Given the description of an element on the screen output the (x, y) to click on. 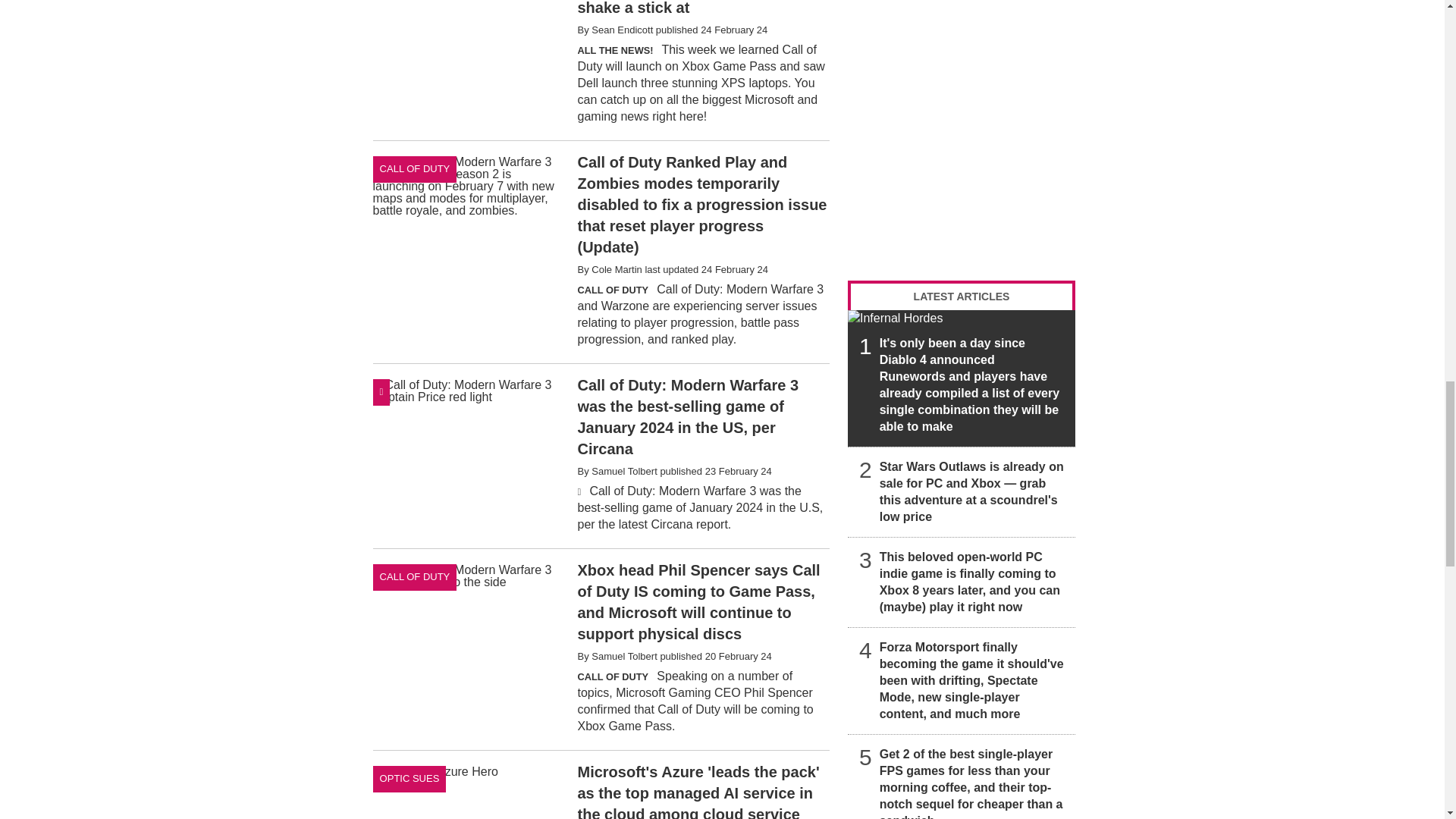
CALL OF DUTY (414, 577)
CALL OF DUTY (414, 169)
